Given the description of an element on the screen output the (x, y) to click on. 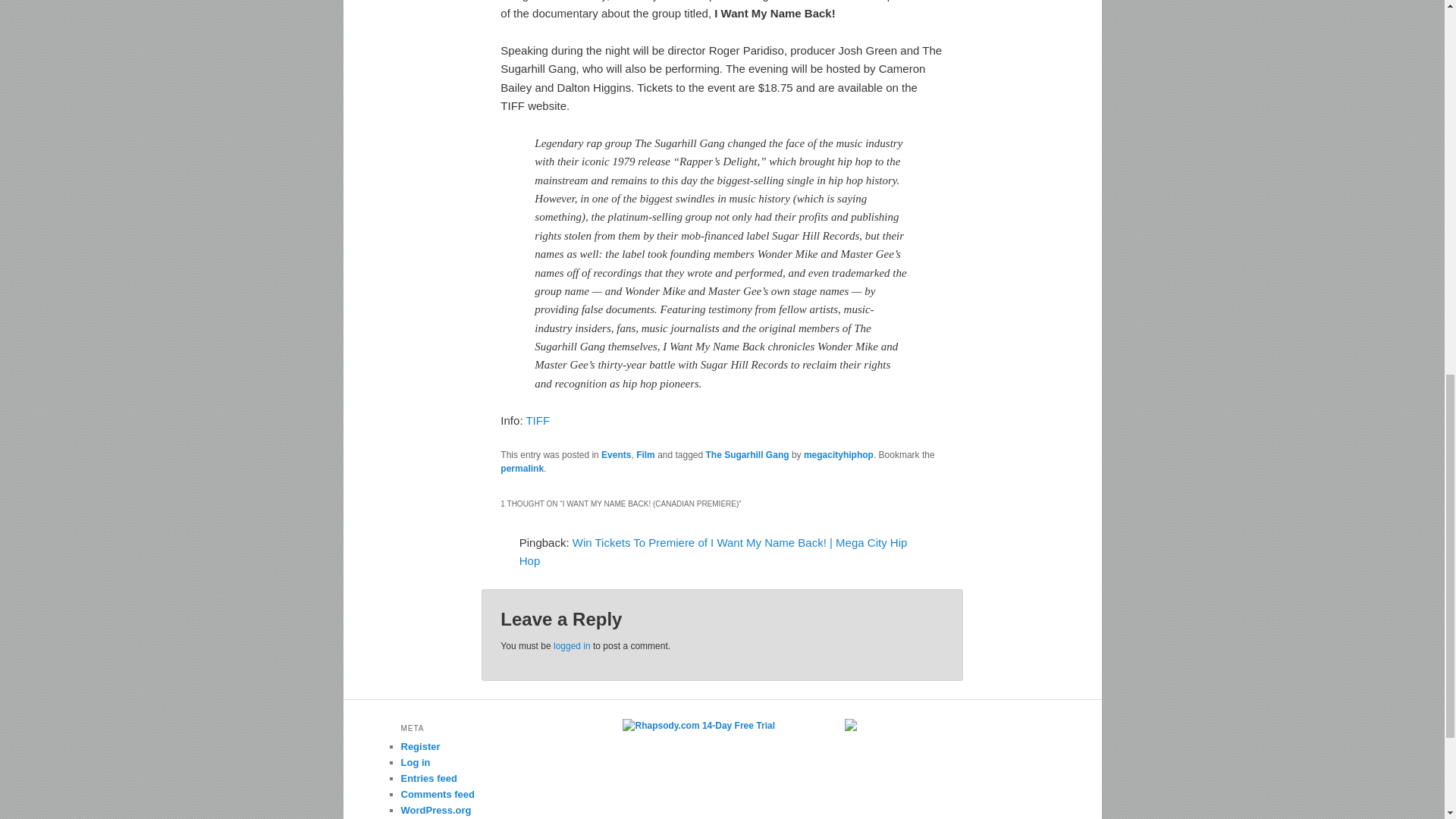
Log in (414, 762)
megacityhiphop (838, 454)
Register (419, 746)
TIFF (537, 420)
WordPress.org (435, 809)
permalink (521, 468)
The Sugarhill Gang (747, 454)
Film (645, 454)
Entries feed (428, 778)
Events (615, 454)
logged in (572, 645)
Comments feed (437, 794)
